Given the description of an element on the screen output the (x, y) to click on. 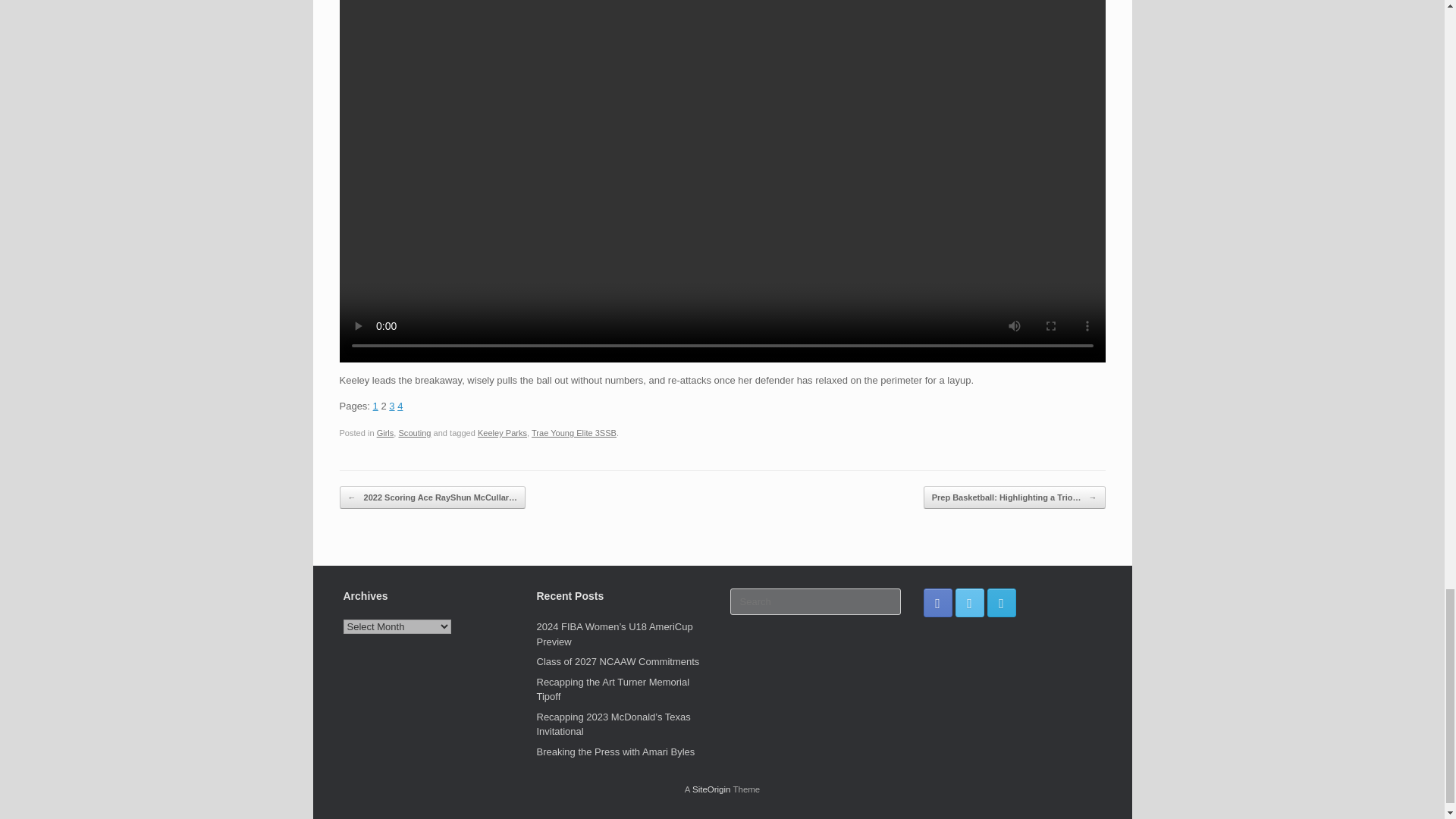
Breaking the Press with Amari Byles (616, 751)
Class of 2027 NCAAW Commitments (618, 661)
Trae Young Elite 3SSB (573, 432)
Five On Five Email (1001, 602)
Five On Five Twitter (969, 602)
Scouting (414, 432)
Five On Five Facebook (937, 602)
Keeley Parks (502, 432)
Girls (385, 432)
Recapping the Art Turner Memorial Tipoff (613, 689)
